Given the description of an element on the screen output the (x, y) to click on. 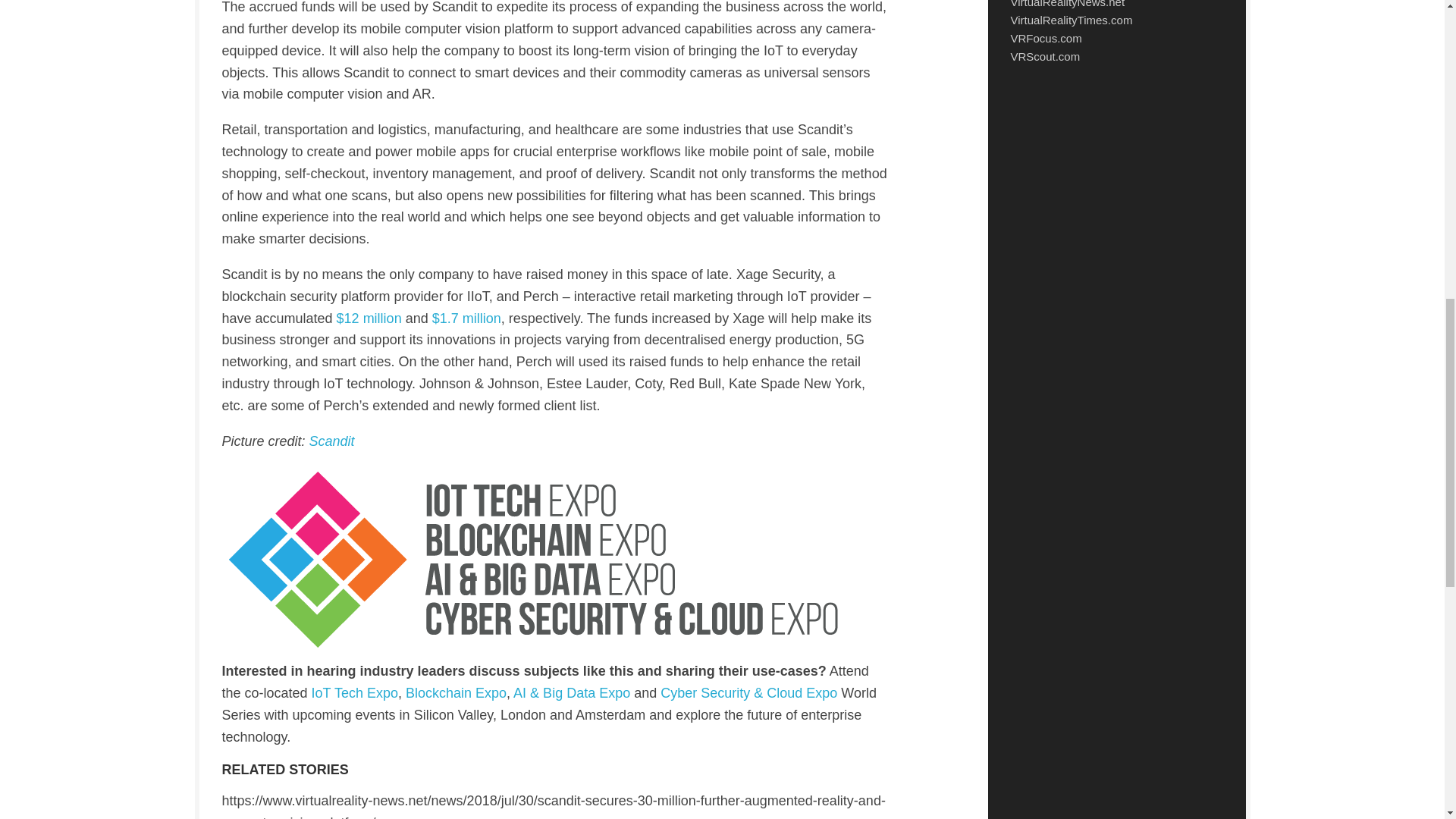
Scandit (331, 441)
IoT Tech Expo (354, 693)
Blockchain Expo (456, 693)
